Given the description of an element on the screen output the (x, y) to click on. 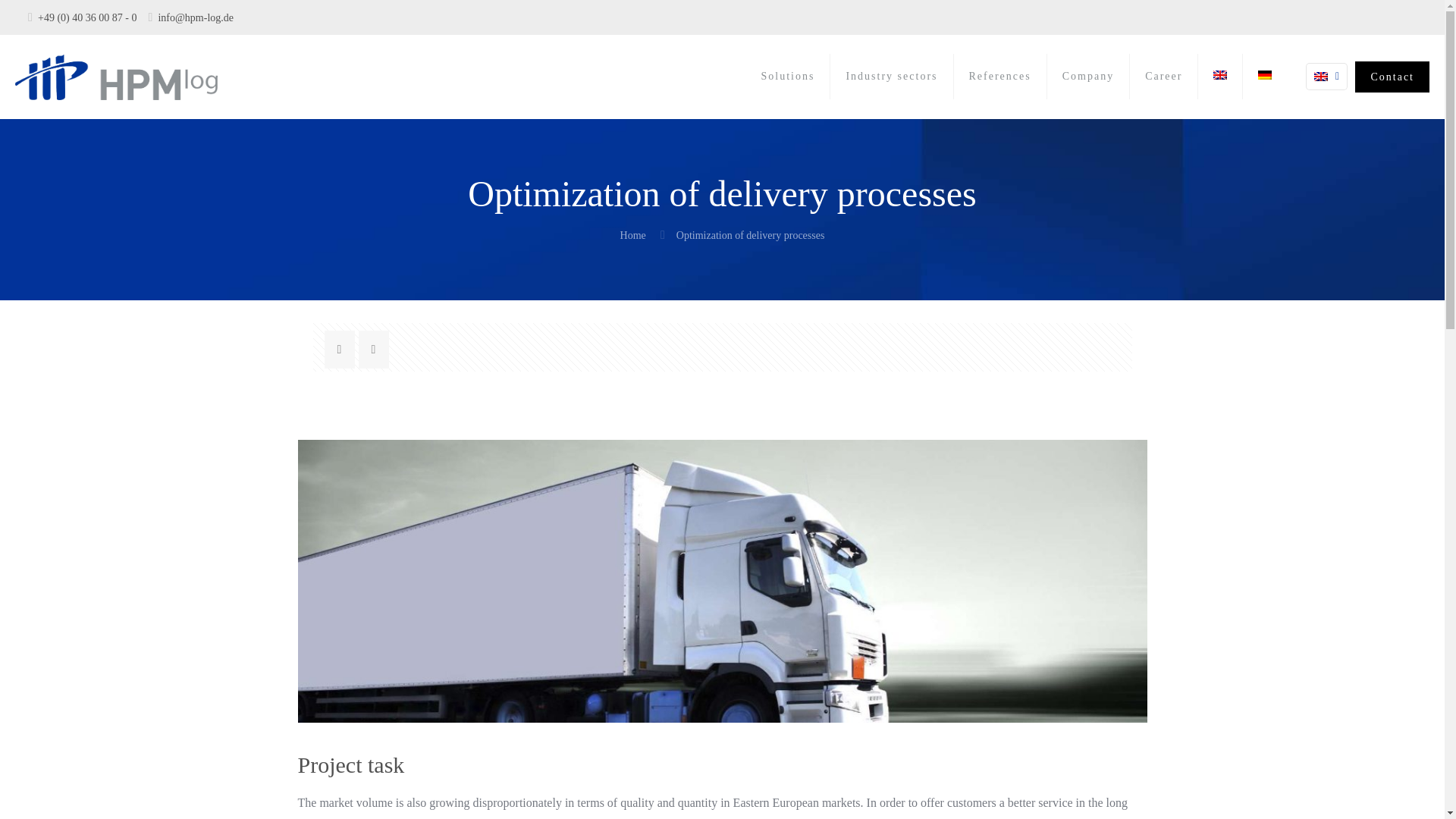
Industry sectors (891, 76)
HPMlog (115, 76)
Optimization of delivery processes (751, 235)
References (999, 76)
Solutions (788, 76)
Contact (1392, 75)
Home (633, 235)
Company (1087, 76)
